Given the description of an element on the screen output the (x, y) to click on. 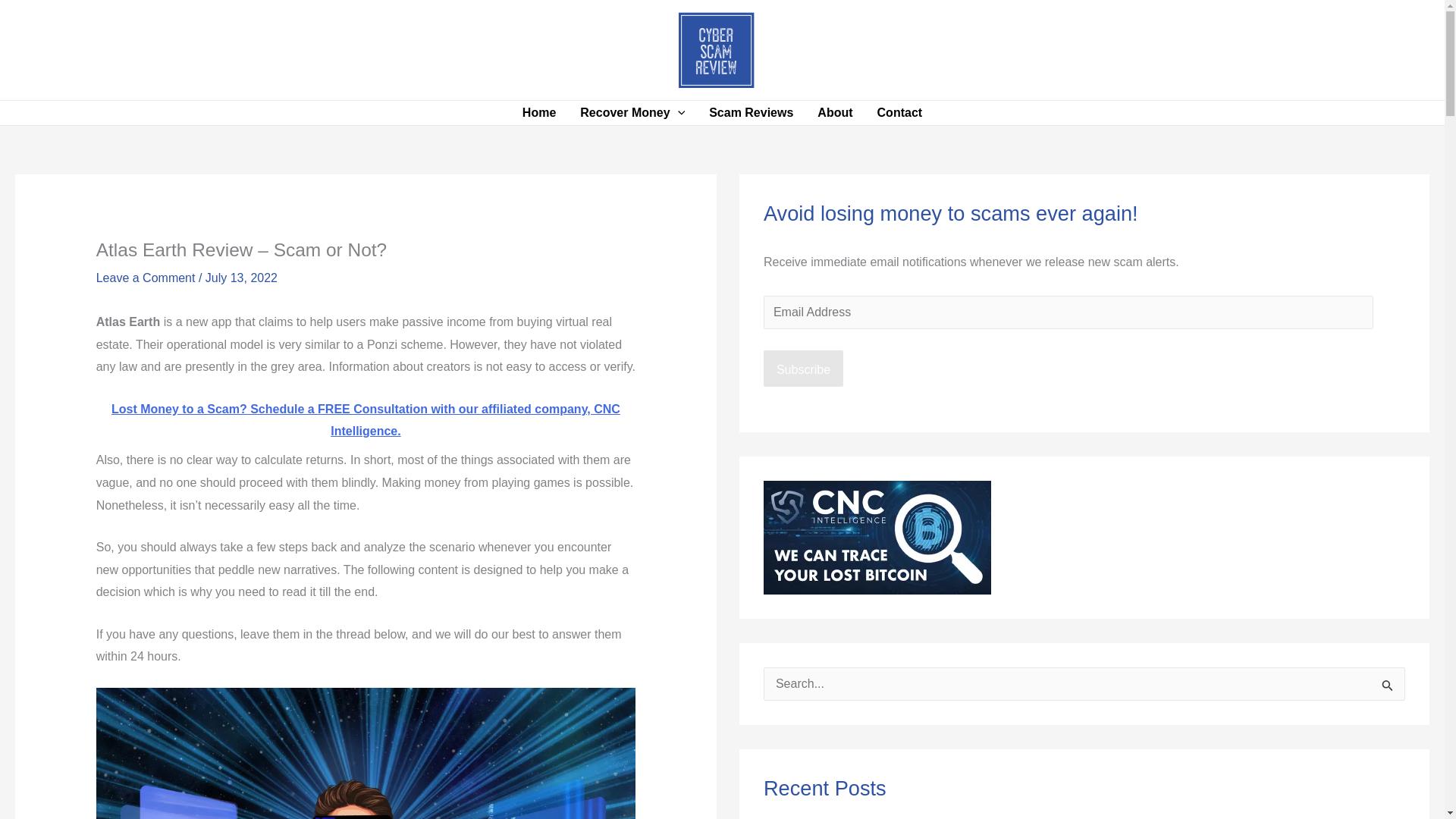
Contact (899, 112)
Scam Reviews (751, 112)
About (834, 112)
Home (539, 112)
Leave a Comment (145, 277)
Recover Money (632, 112)
